Given the description of an element on the screen output the (x, y) to click on. 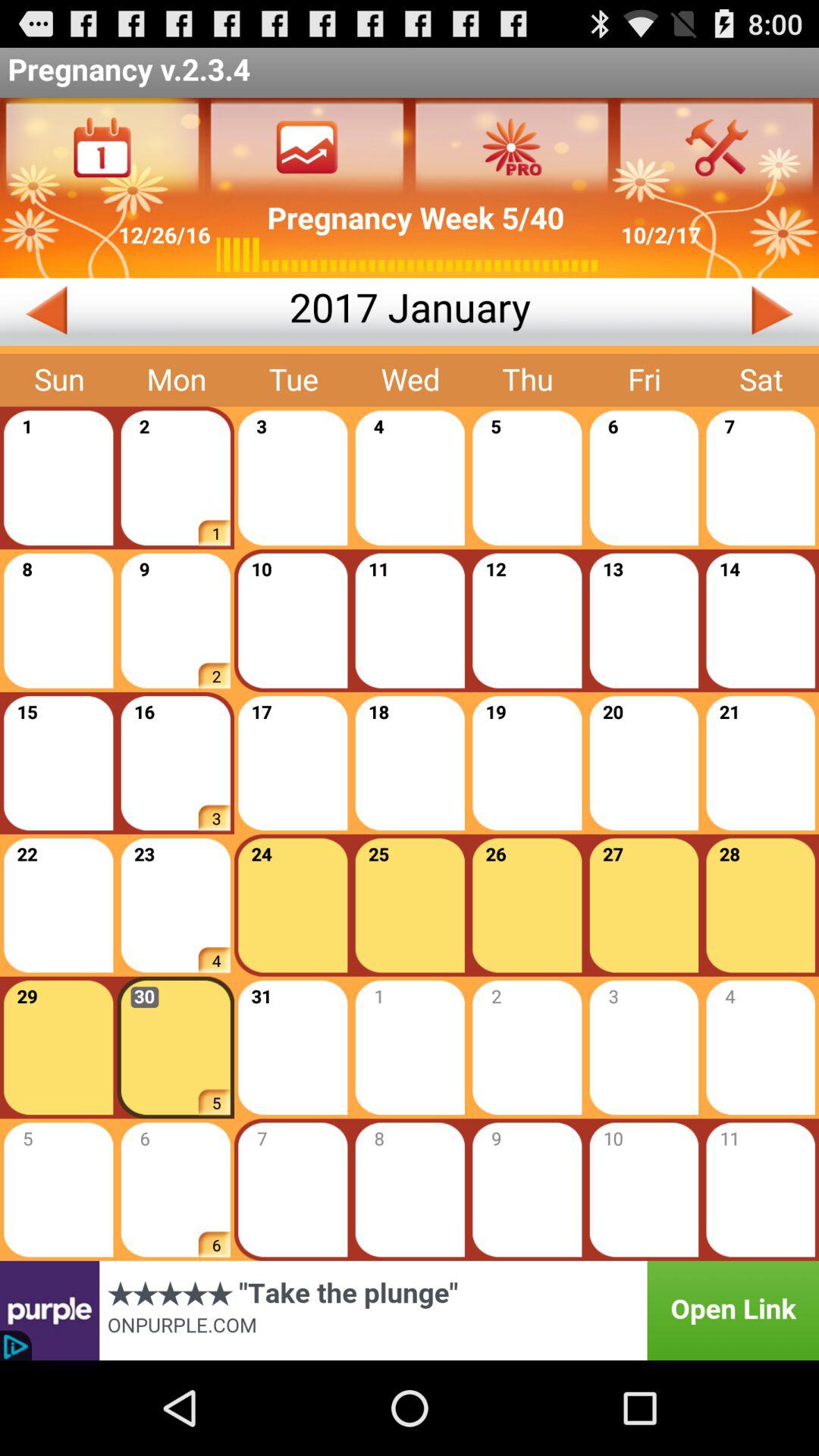
next month (674, 311)
